Given the description of an element on the screen output the (x, y) to click on. 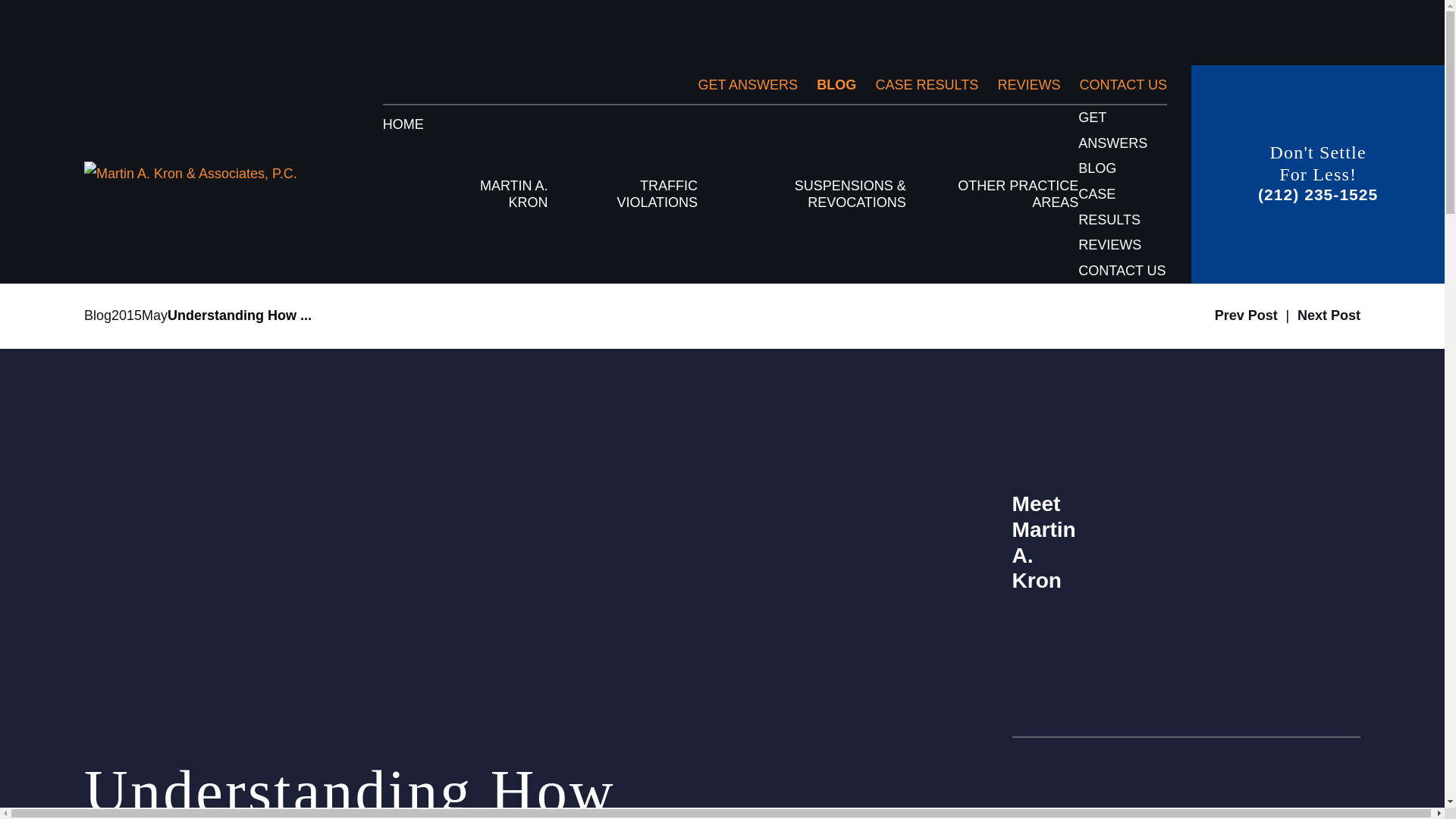
BLOG (836, 84)
Open the accessibility options menu (1423, 786)
MARTIN A. KRON (502, 194)
CASE RESULTS (926, 84)
TRAFFIC VIOLATIONS (638, 194)
GET ANSWERS (747, 84)
CONTACT US (1123, 84)
REVIEWS (1028, 84)
OTHER PRACTICE AREAS (1008, 194)
